Given the description of an element on the screen output the (x, y) to click on. 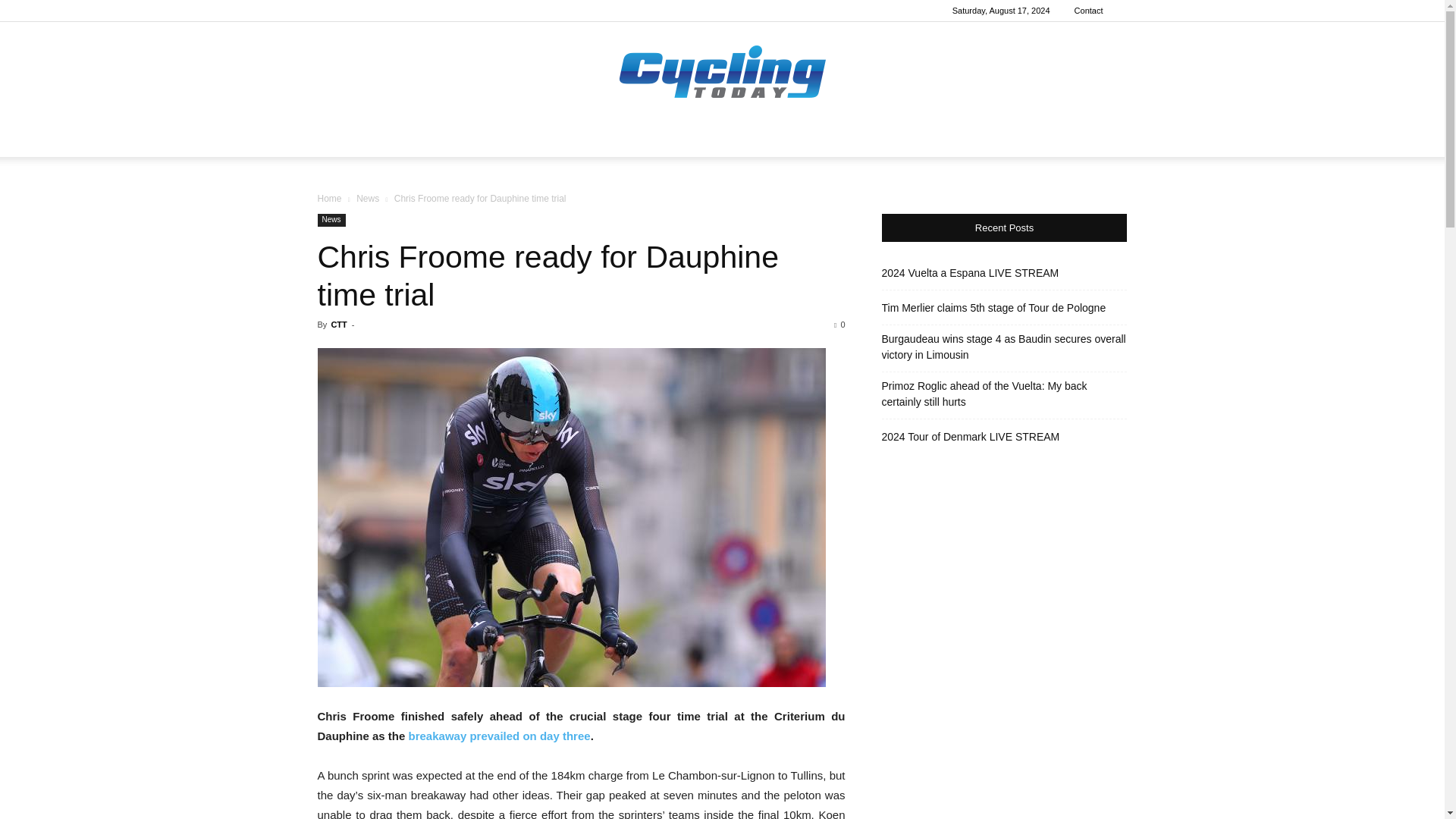
CTT (338, 324)
VIDEOS (854, 138)
LIVE STREAMING (1009, 138)
RESULTS (519, 138)
TRAINING AND HEALTH (677, 138)
News (367, 198)
View all posts in News (367, 198)
HOME (405, 138)
Contact (1088, 10)
